Given the description of an element on the screen output the (x, y) to click on. 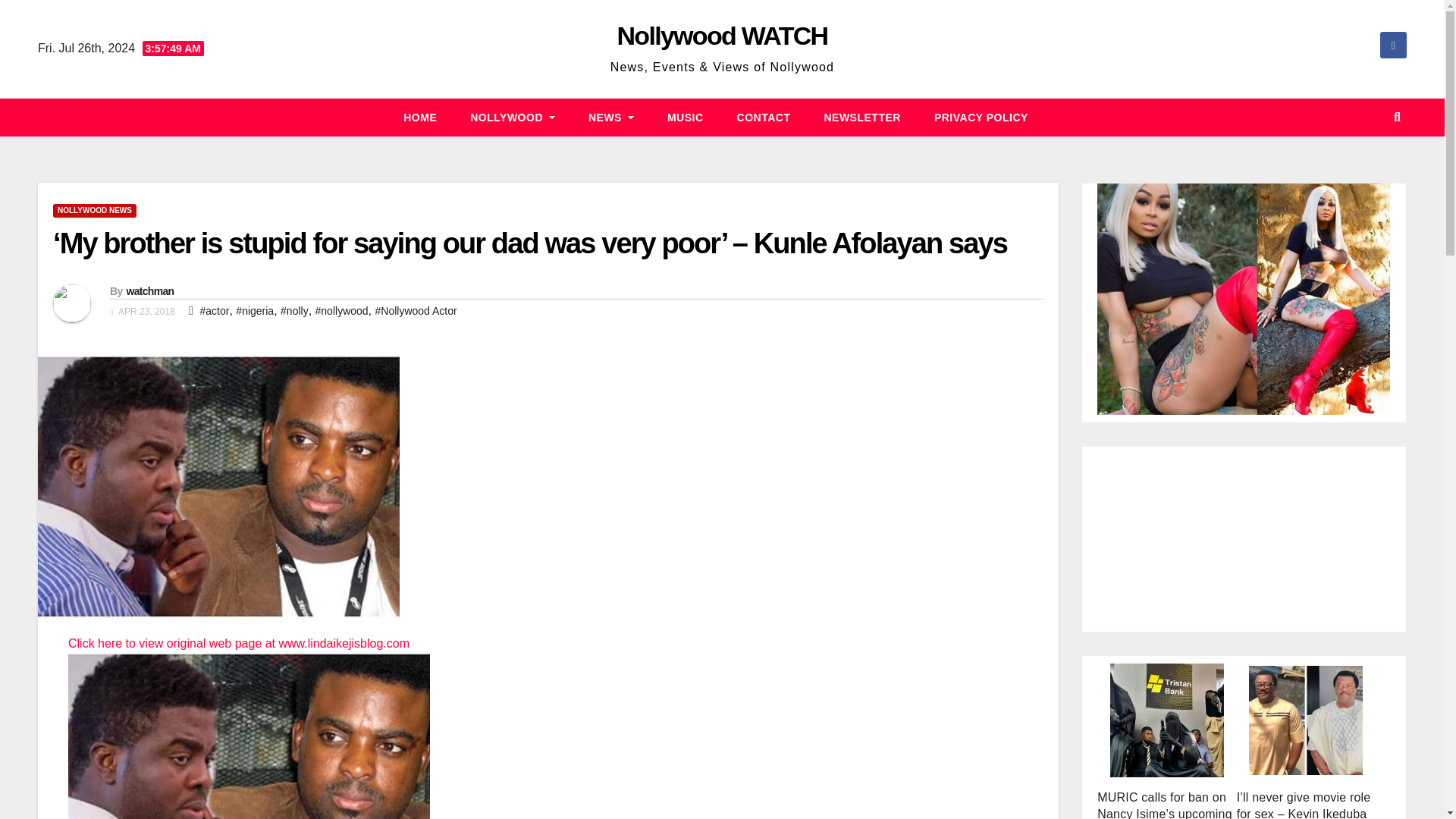
HOME (419, 117)
Nollywood (512, 117)
News (611, 117)
NOLLYWOOD (512, 117)
watchman (149, 291)
Newsletter (861, 117)
NEWSLETTER (861, 117)
Home (419, 117)
PRIVACY POLICY (981, 117)
Contact (764, 117)
Music (685, 117)
NOLLYWOOD NEWS (94, 210)
Nollywood WATCH (722, 35)
CONTACT (764, 117)
